Given the description of an element on the screen output the (x, y) to click on. 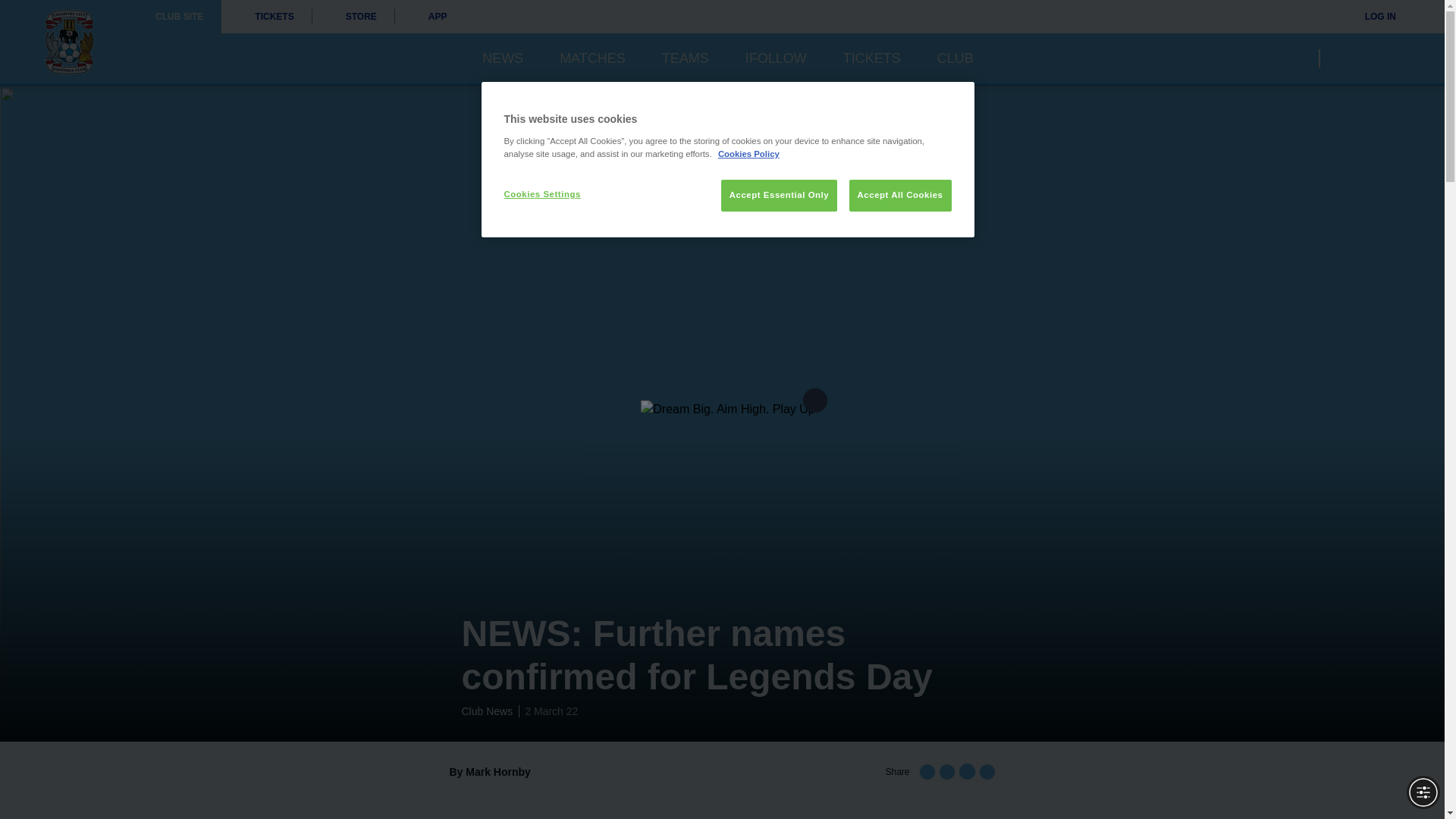
TICKETS (872, 58)
APP (429, 16)
CLUB (955, 58)
MATCHES (592, 58)
Accept Essential Only (778, 195)
Accept All Cookies (900, 195)
TEAMS (685, 58)
STORE (353, 16)
NEWS (501, 58)
TICKETS (266, 16)
CLUB SITE (178, 16)
Cookies Policy (747, 153)
Help widget launcher (75, 781)
Cookies Settings (554, 194)
IFOLLOW (775, 58)
